Given the description of an element on the screen output the (x, y) to click on. 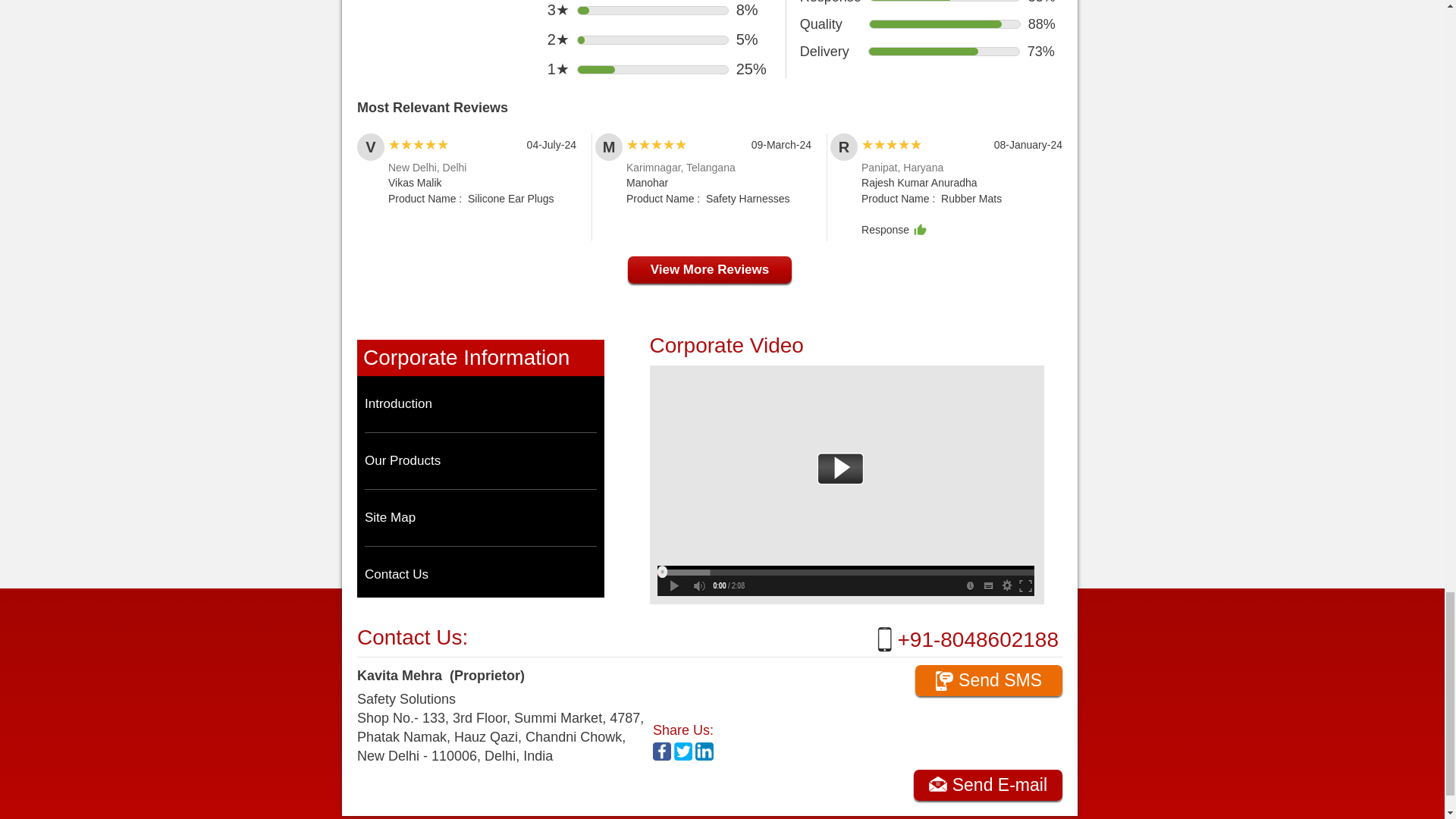
Send SMS Free (988, 680)
